Given the description of an element on the screen output the (x, y) to click on. 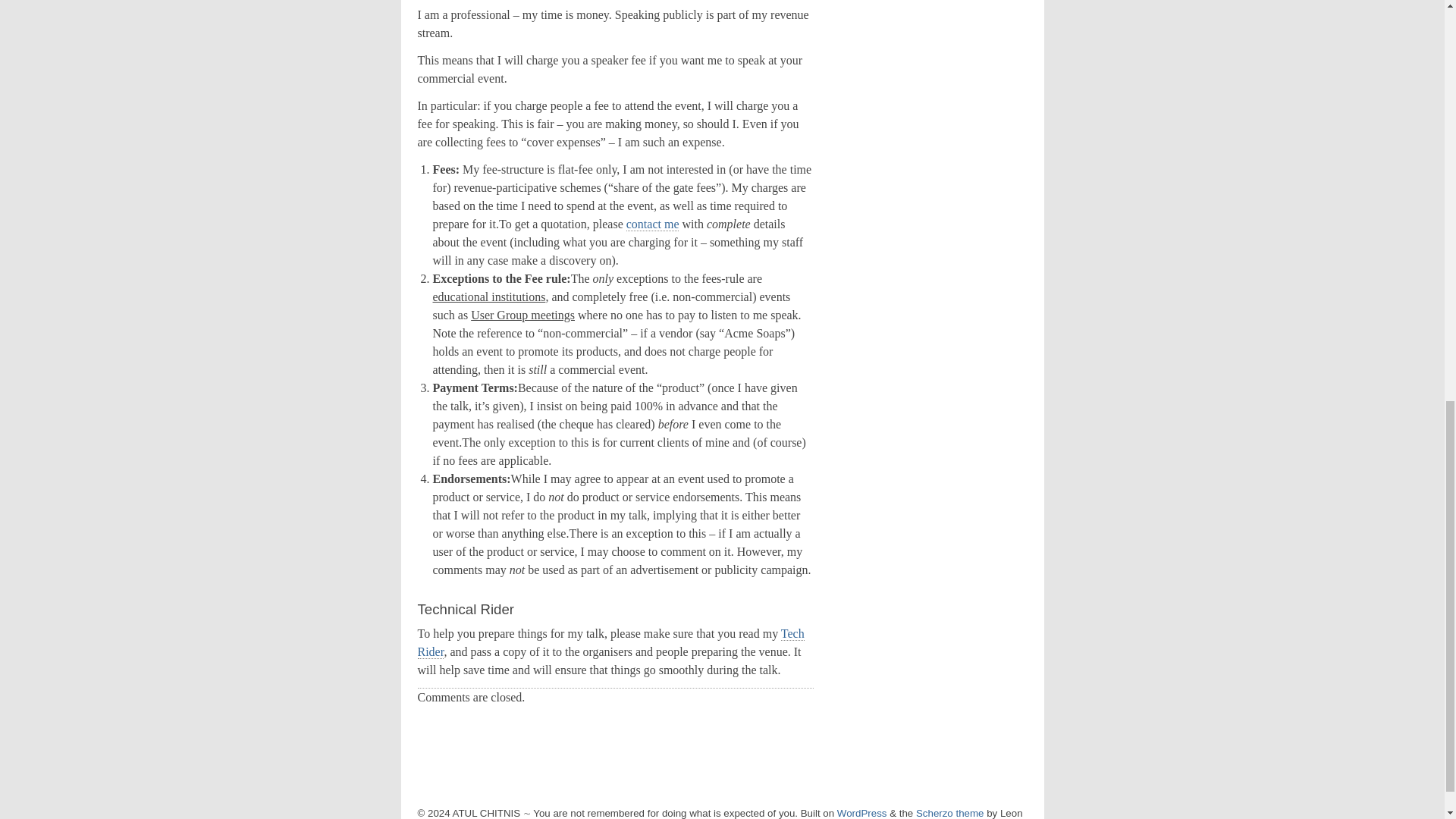
contact me (652, 223)
Scherzo theme (949, 813)
Tech Rider (609, 643)
WordPress (861, 813)
